Given the description of an element on the screen output the (x, y) to click on. 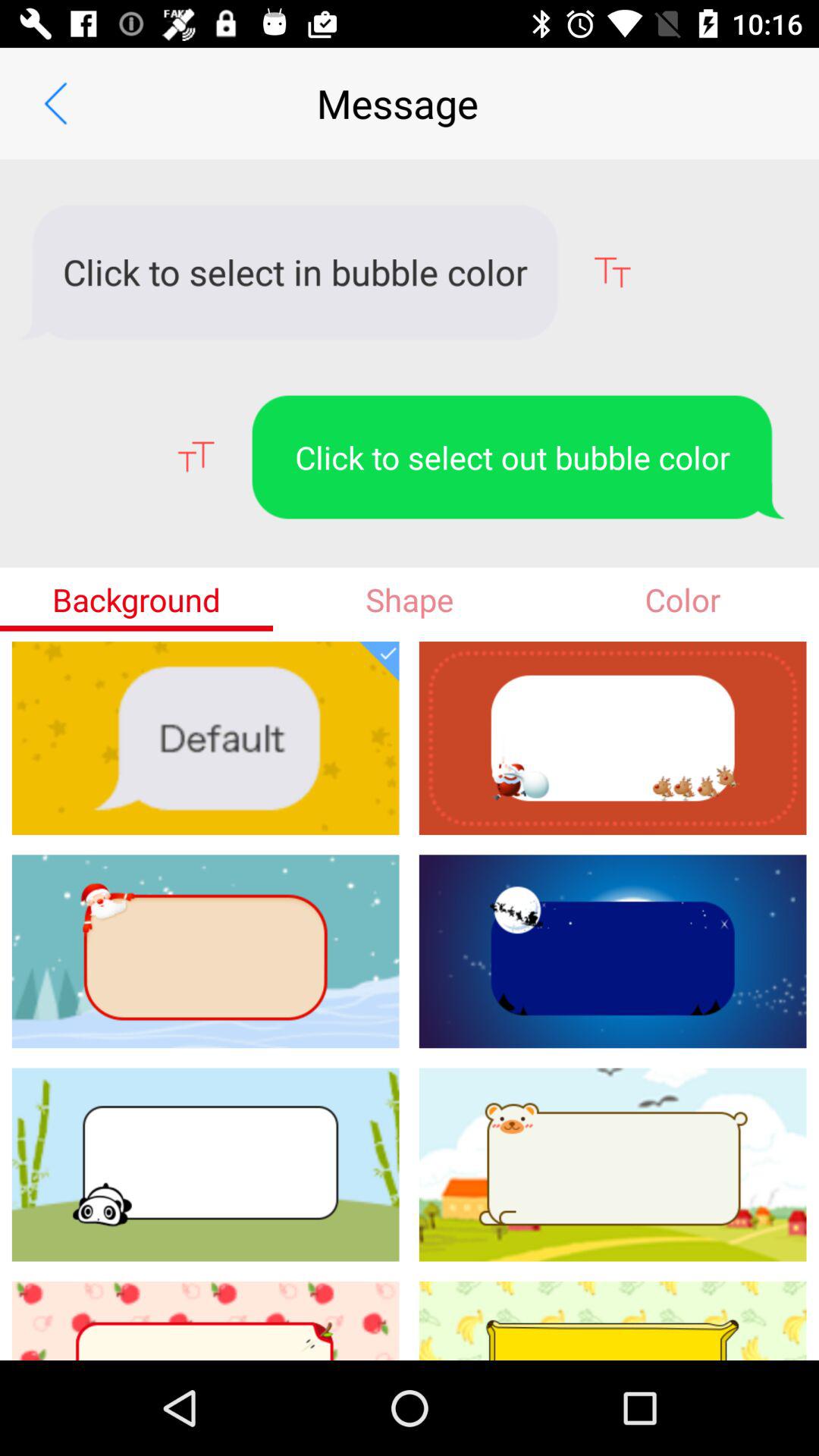
flip until the background (136, 599)
